Given the description of an element on the screen output the (x, y) to click on. 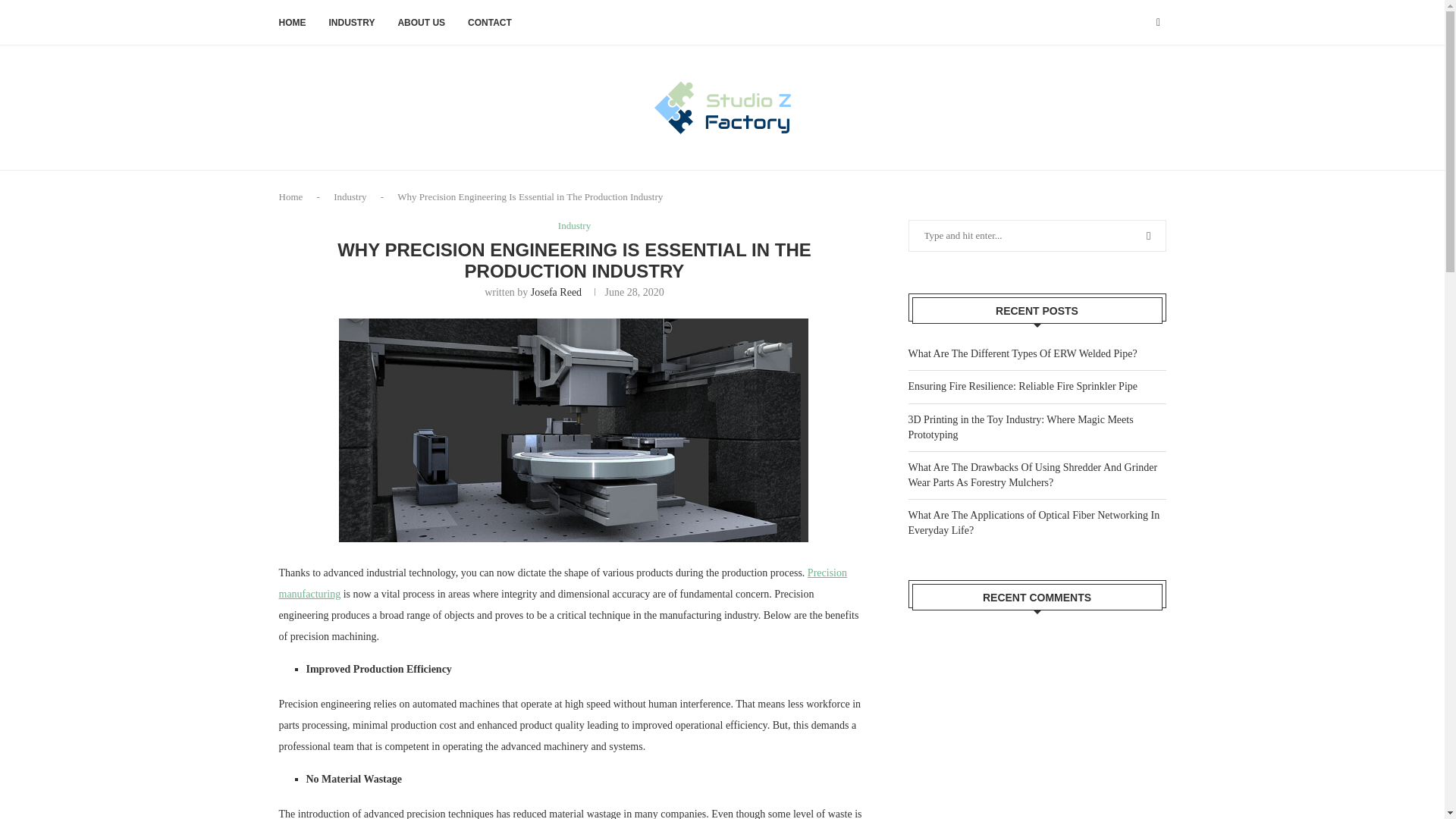
Industry (349, 196)
Industry (574, 225)
HOME (292, 22)
CONTACT (489, 22)
INDUSTRY (352, 22)
ABOUT US (421, 22)
Precision manufacturing (563, 583)
Home (290, 196)
Josefa Reed (555, 292)
